Given the description of an element on the screen output the (x, y) to click on. 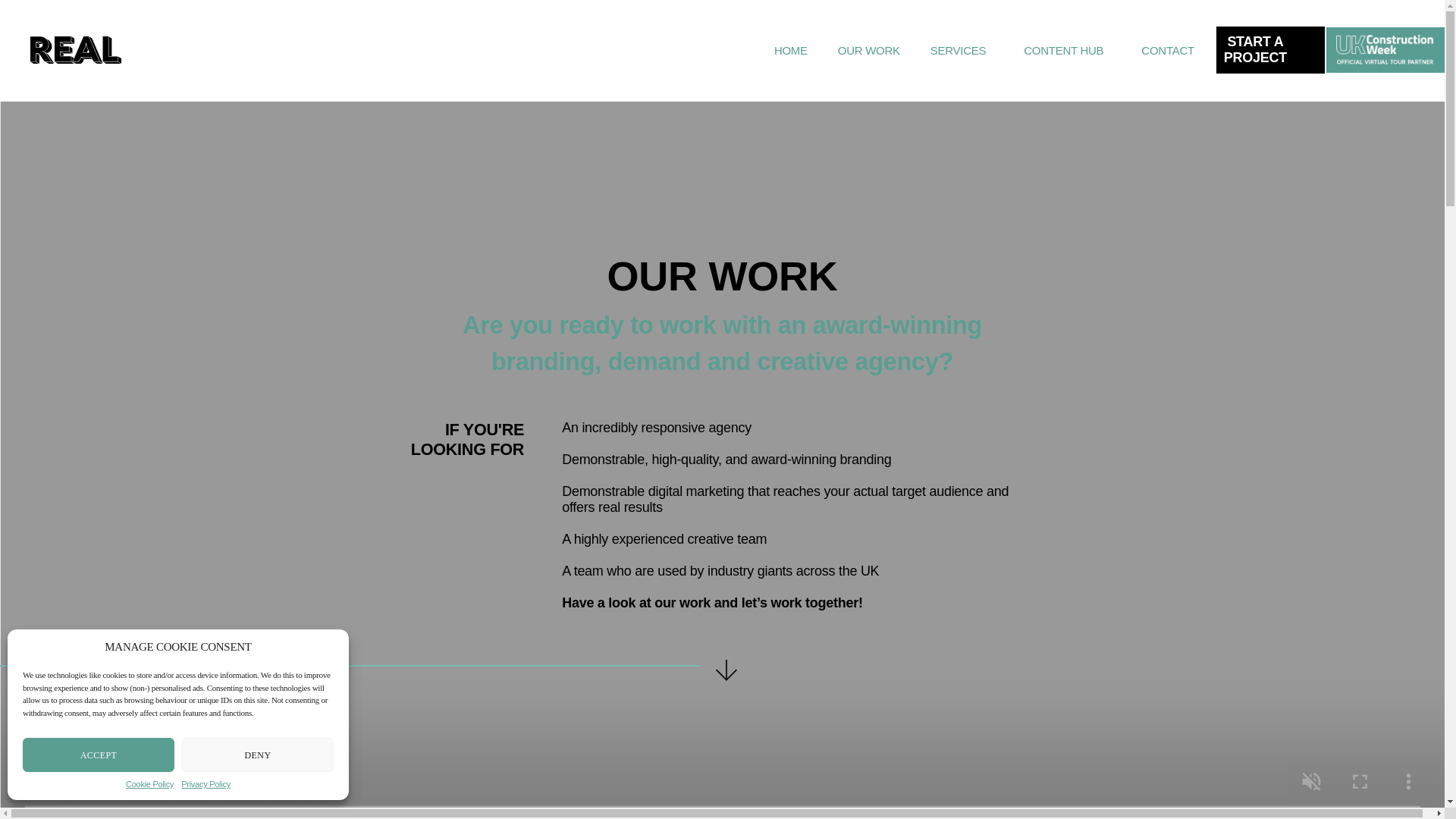
SERVICES (962, 49)
ACCEPT (98, 754)
CONTENT HUB (1067, 49)
DENY (257, 754)
OUR WORK (868, 49)
Cookie Policy (1269, 49)
CONTACT (149, 783)
Privacy Policy (1167, 49)
HOME (205, 783)
